Given the description of an element on the screen output the (x, y) to click on. 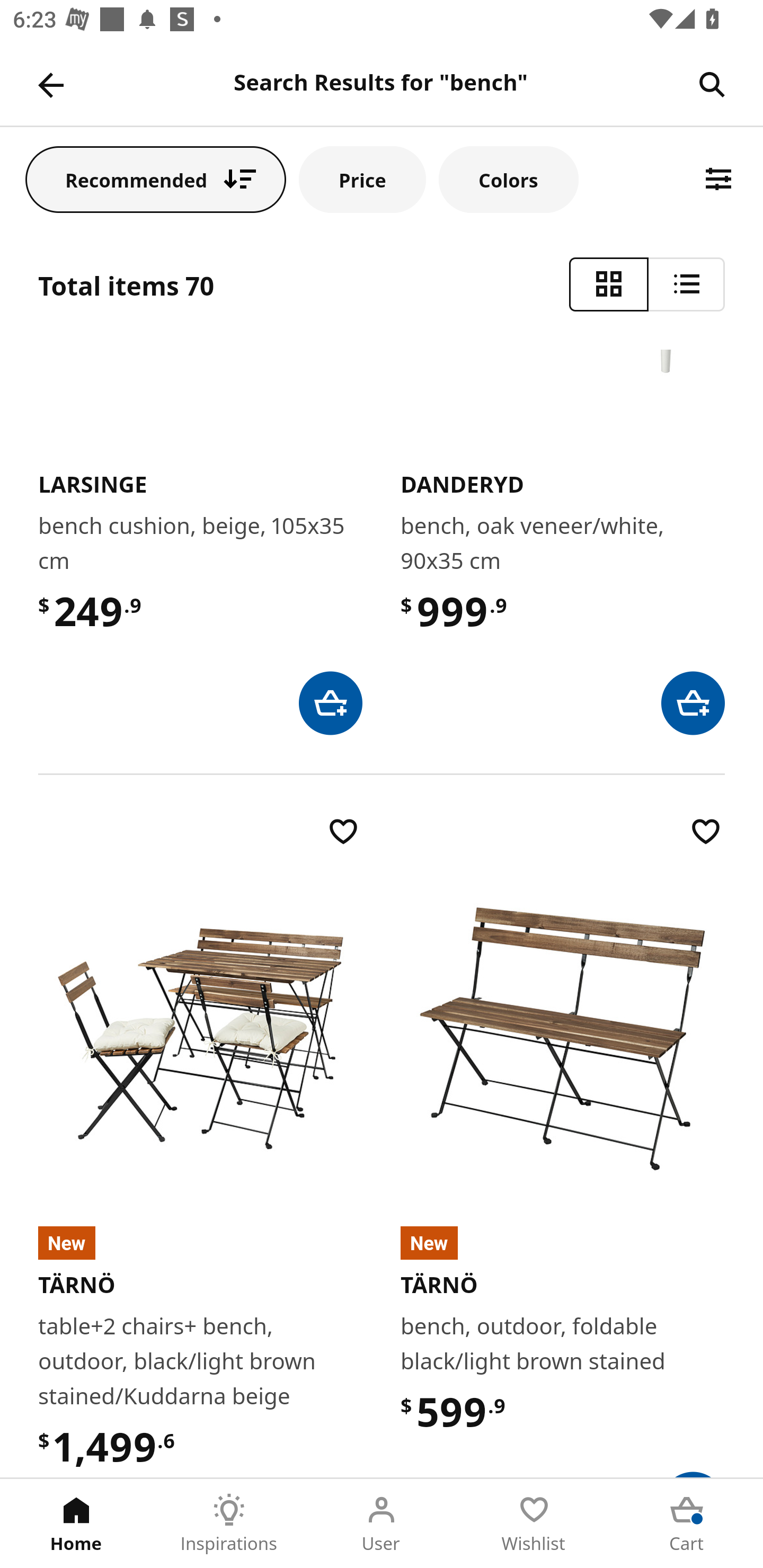
Recommended (155, 179)
Price (362, 179)
Colors (508, 179)
Home
Tab 1 of 5 (76, 1522)
Inspirations
Tab 2 of 5 (228, 1522)
User
Tab 3 of 5 (381, 1522)
Wishlist
Tab 4 of 5 (533, 1522)
Cart
Tab 5 of 5 (686, 1522)
